Given the description of an element on the screen output the (x, y) to click on. 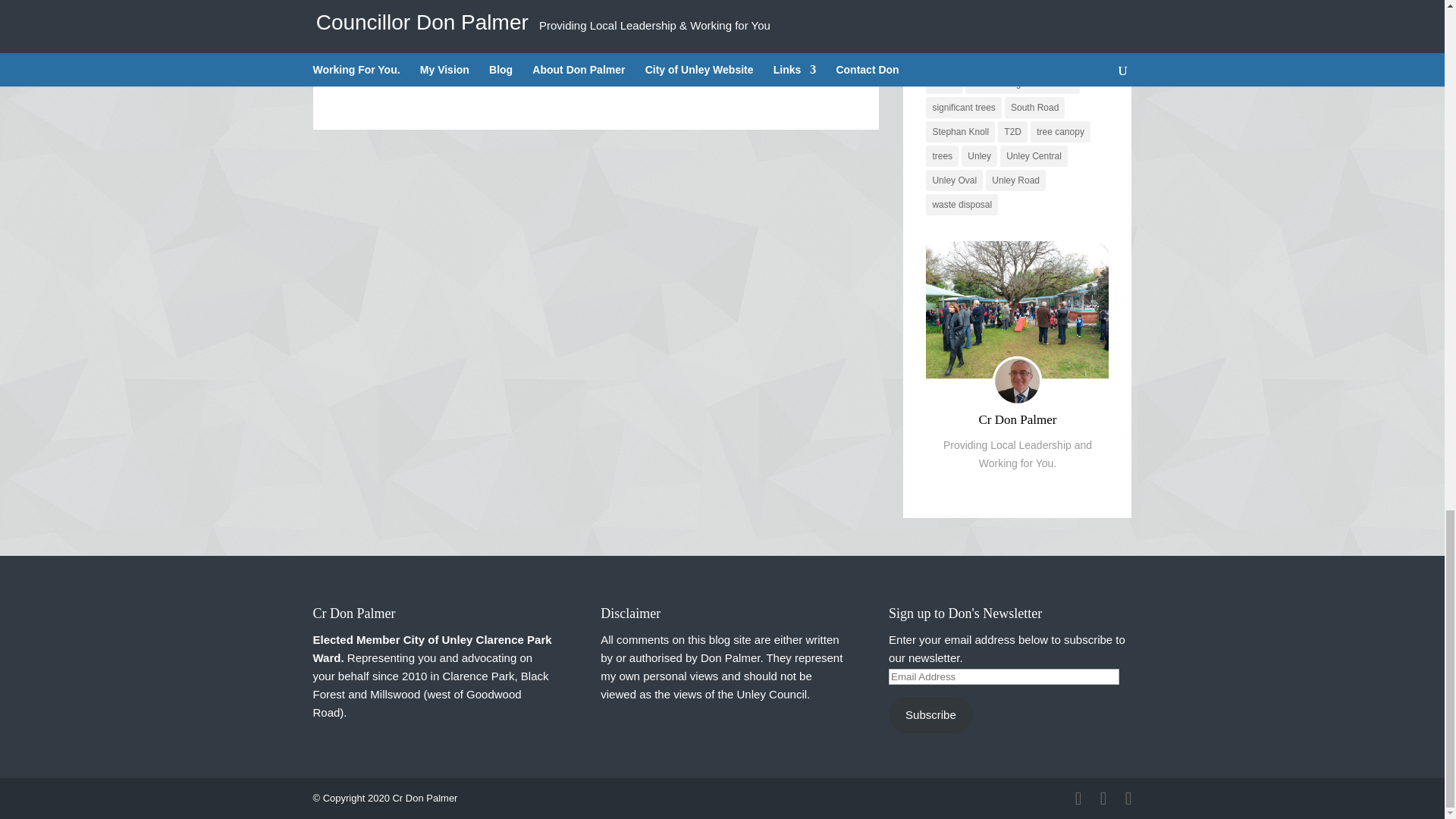
Submit Comment (781, 42)
Submit Comment (781, 42)
